Given the description of an element on the screen output the (x, y) to click on. 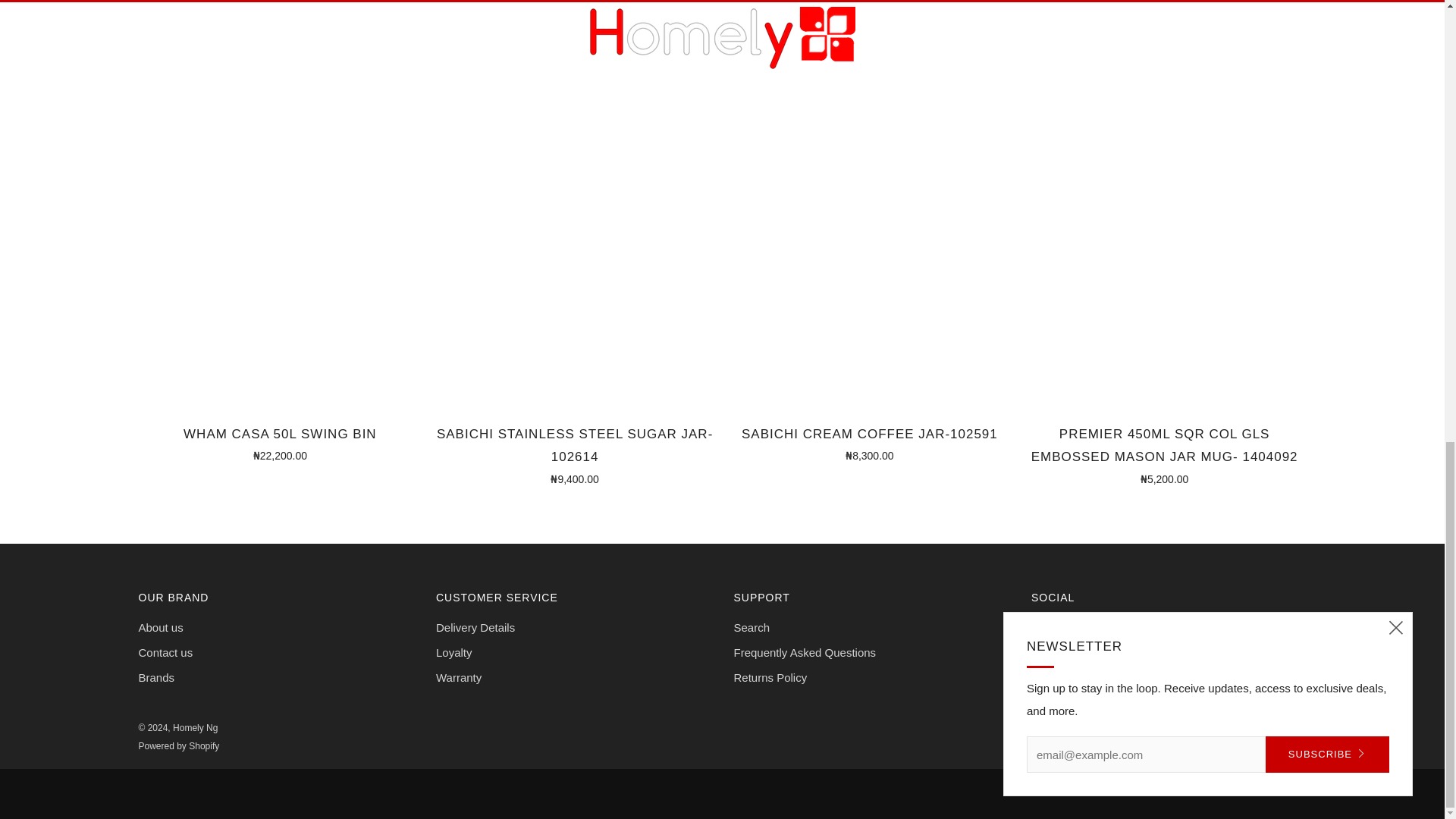
Sabichi Cream Coffee Jar-102591 (869, 442)
Sabichi Stainless Steel Sugar jar-102614 (574, 453)
PREMIER 450ML SQR COL GLS EMBOSSED MASON JAR MUG- 1404092 (1164, 453)
Wham Casa 50L Swing Bin (280, 442)
